Given the description of an element on the screen output the (x, y) to click on. 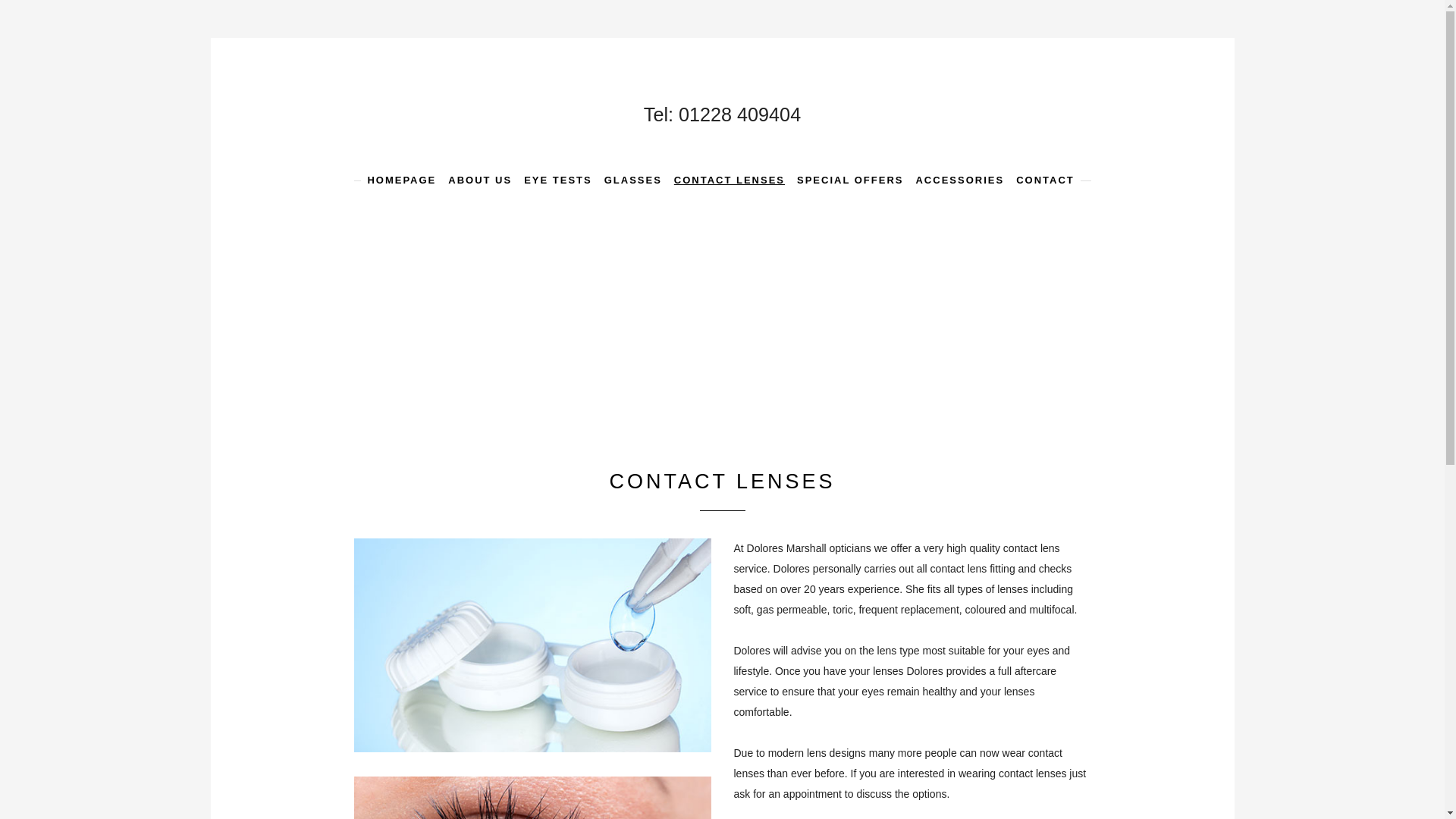
ABOUT US (479, 179)
CONTACT (1045, 179)
EYE TESTS (557, 179)
SPECIAL OFFERS (850, 179)
ACCESSORIES (959, 179)
GLASSES (632, 179)
CONTACT LENSES (729, 179)
HOMEPAGE (401, 179)
